Given the description of an element on the screen output the (x, y) to click on. 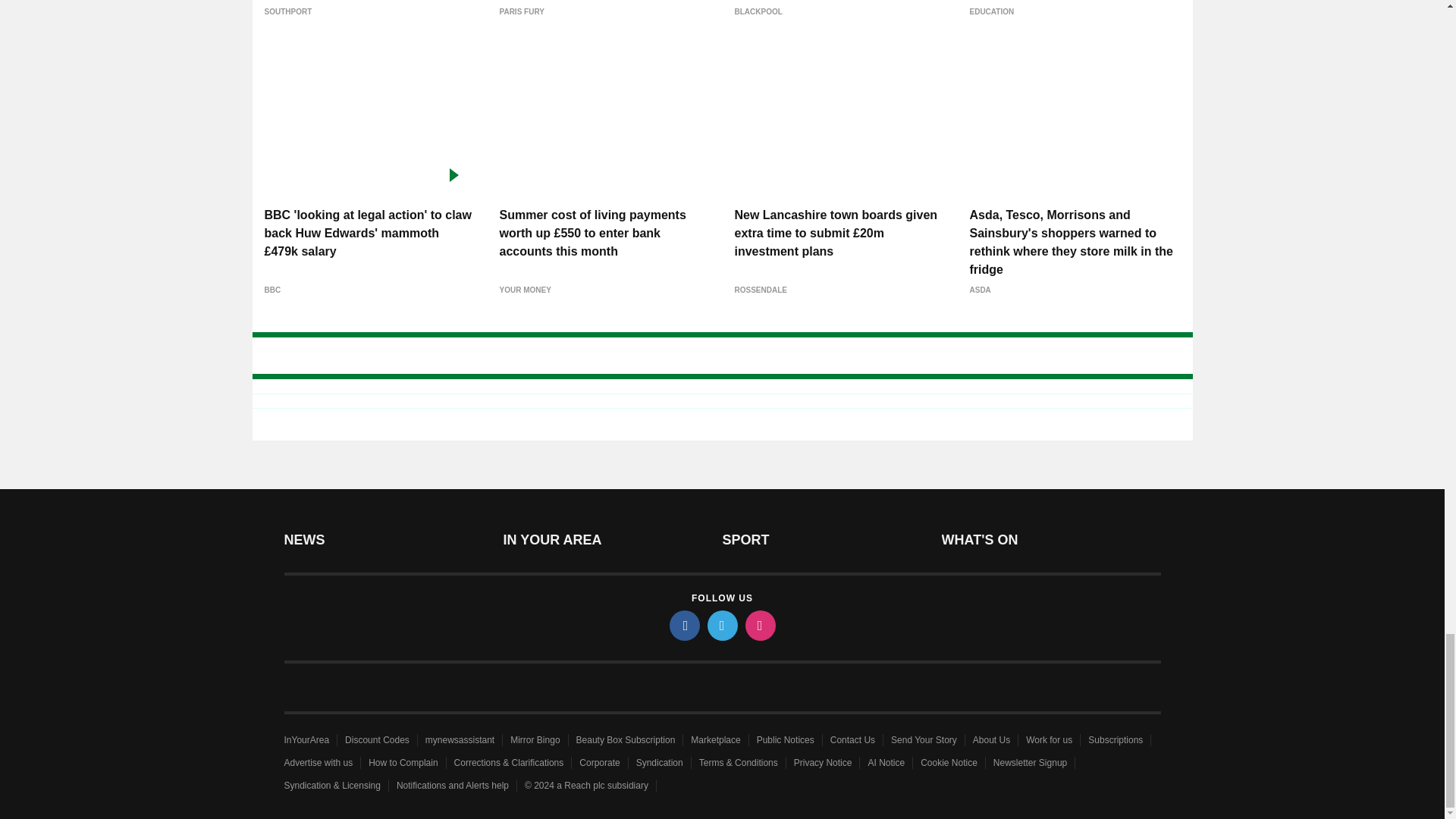
twitter (721, 625)
facebook (683, 625)
instagram (759, 625)
